Given the description of an element on the screen output the (x, y) to click on. 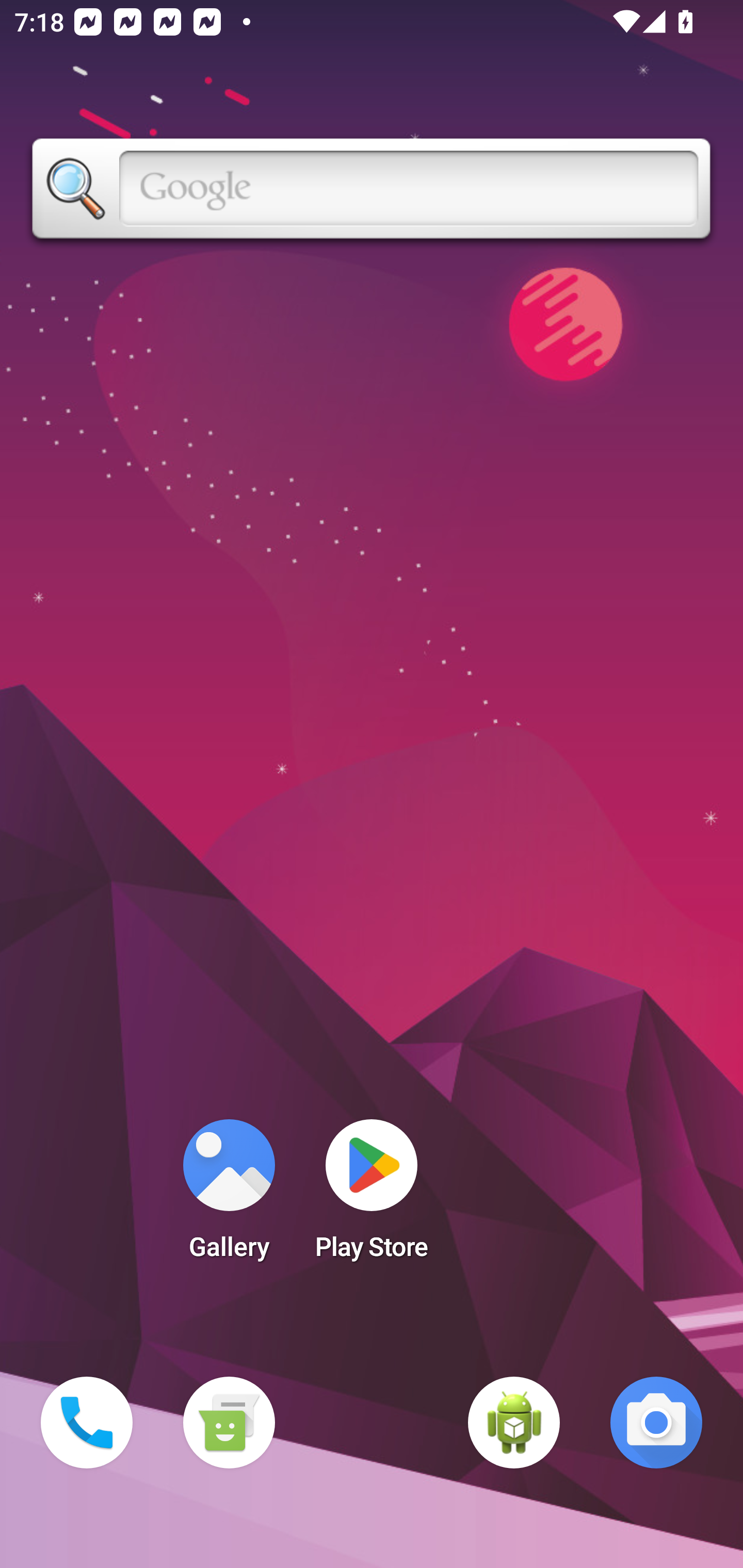
Gallery (228, 1195)
Play Store (371, 1195)
Phone (86, 1422)
Messaging (228, 1422)
WebView Browser Tester (513, 1422)
Camera (656, 1422)
